Given the description of an element on the screen output the (x, y) to click on. 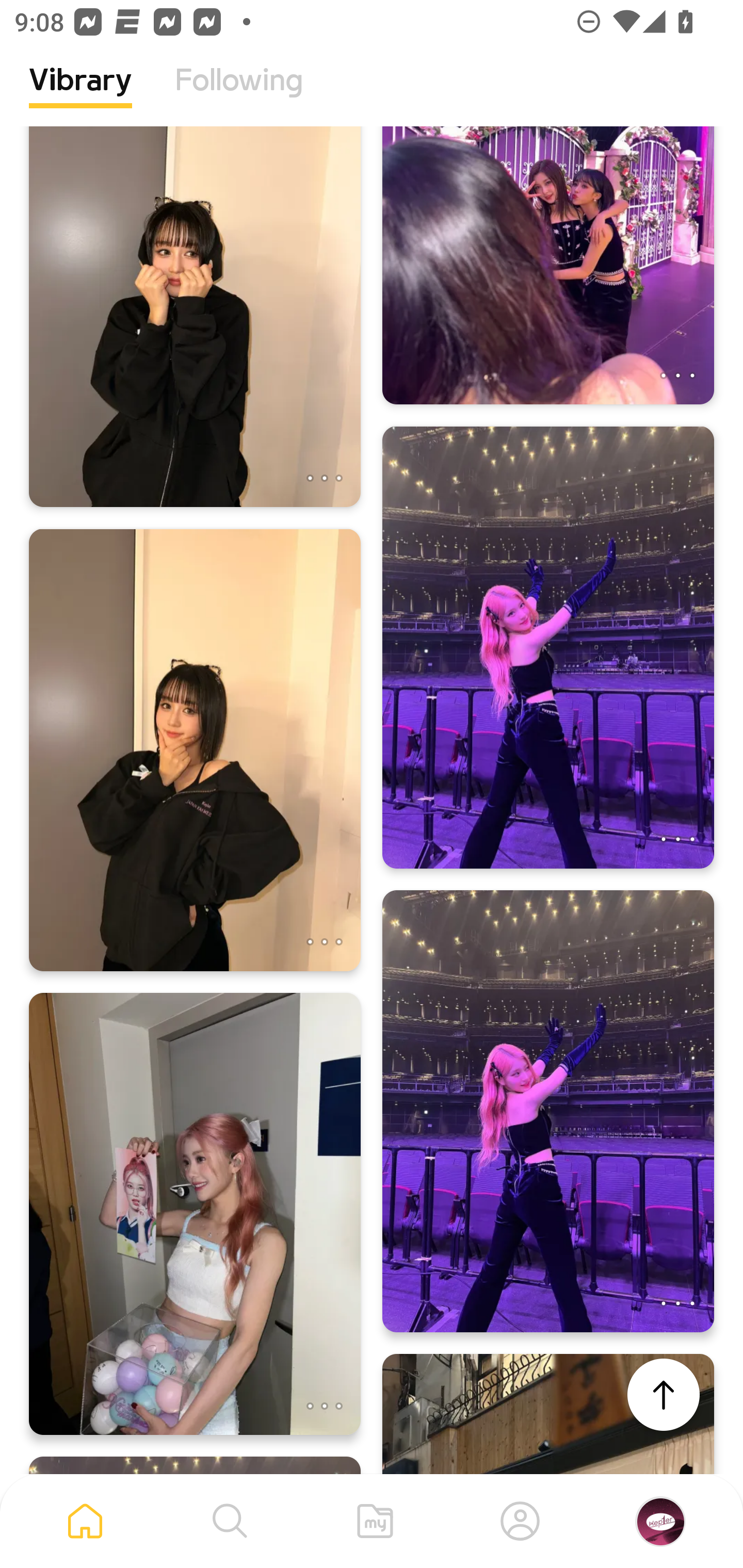
Vibrary (80, 95)
Following (239, 95)
